Given the description of an element on the screen output the (x, y) to click on. 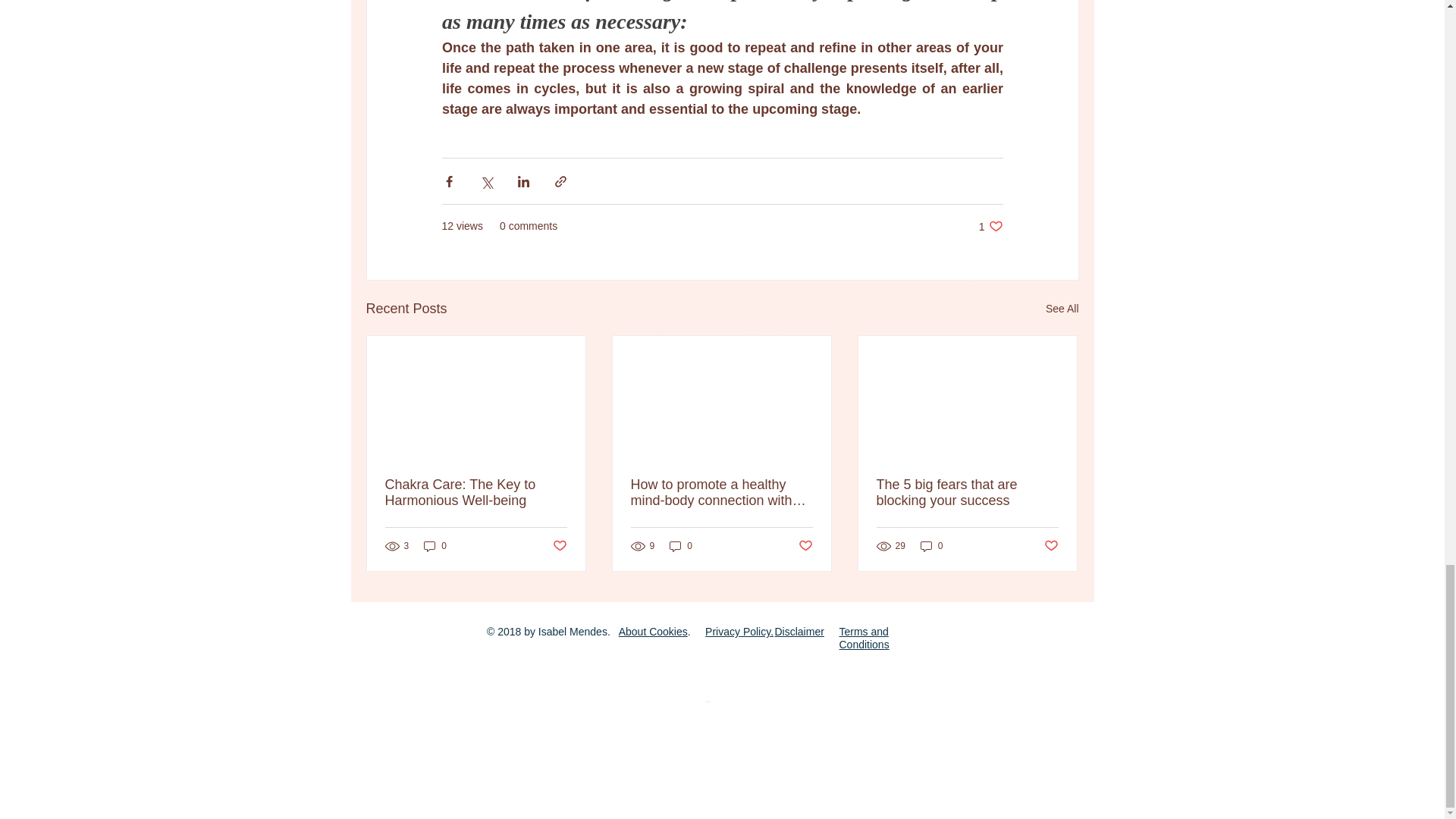
The 5 big fears that are blocking your success (967, 492)
0 (990, 226)
Post not marked as liked (681, 545)
See All (1050, 546)
Terms and Conditions (1061, 309)
Post not marked as liked (863, 637)
0 (804, 546)
Disclaimer (435, 545)
Privacy Policy. (799, 631)
